Given the description of an element on the screen output the (x, y) to click on. 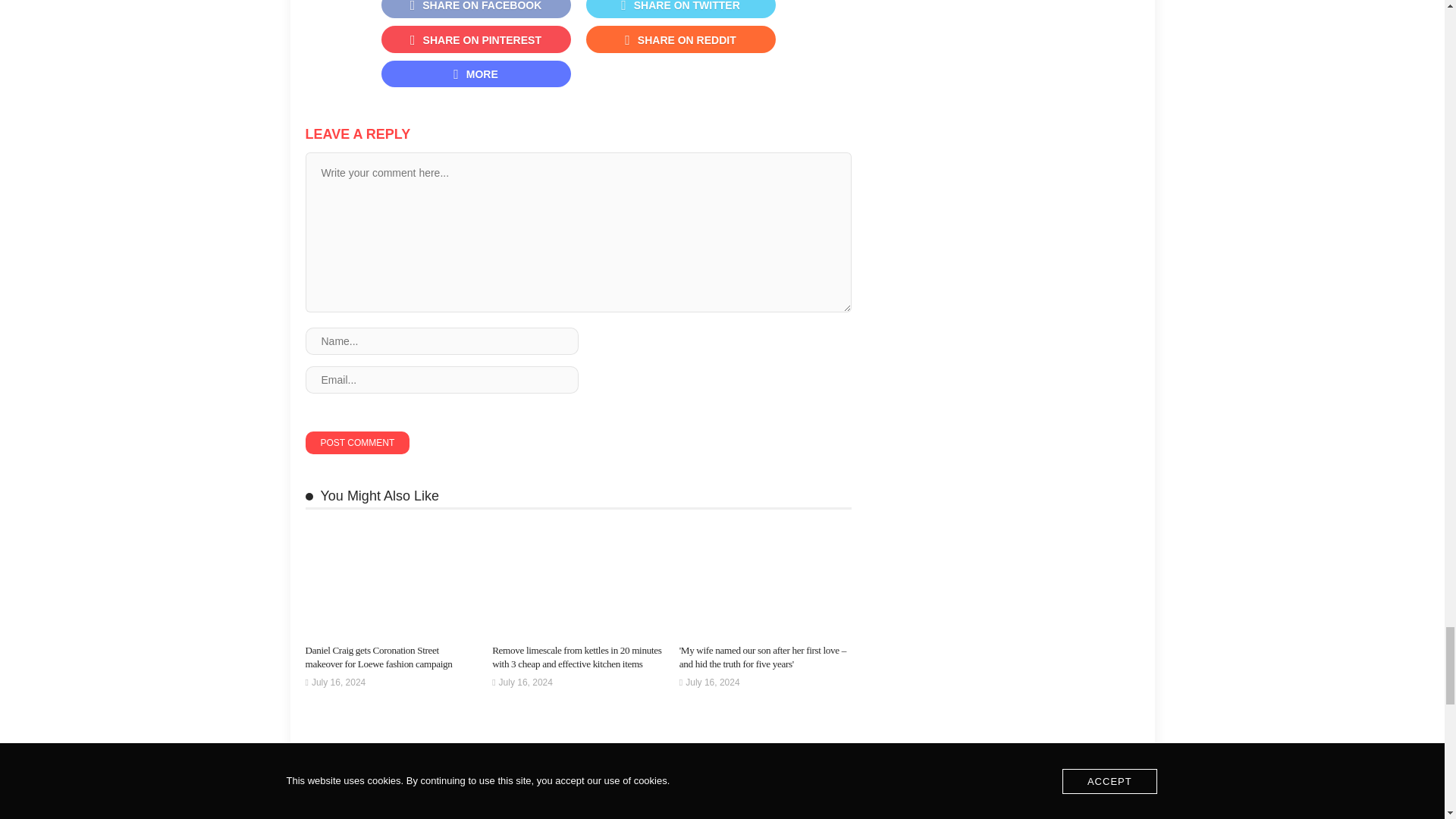
Post Comment (356, 442)
